Given the description of an element on the screen output the (x, y) to click on. 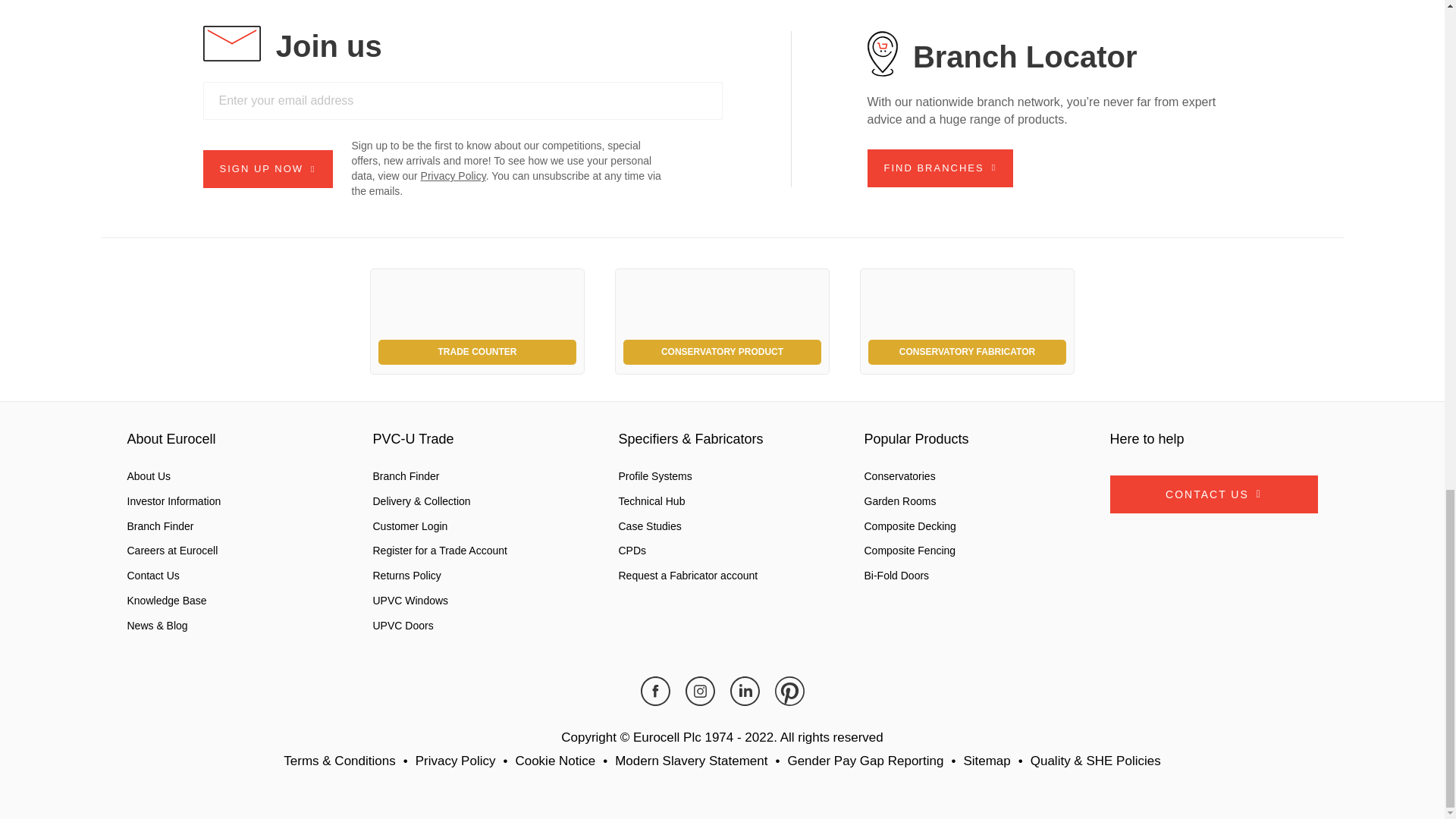
Sign up now (268, 168)
